Given the description of an element on the screen output the (x, y) to click on. 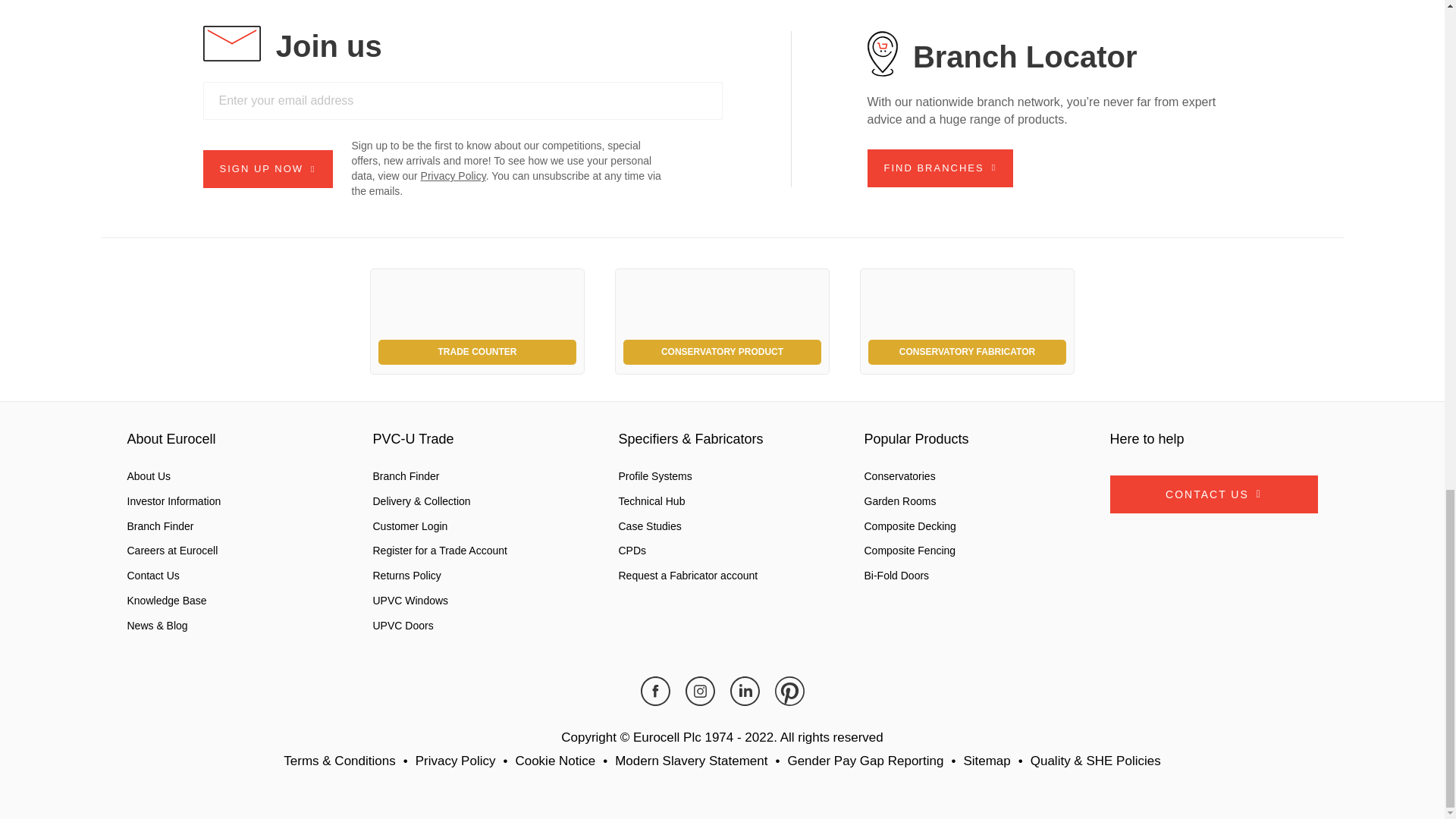
Sign up now (268, 168)
